Given the description of an element on the screen output the (x, y) to click on. 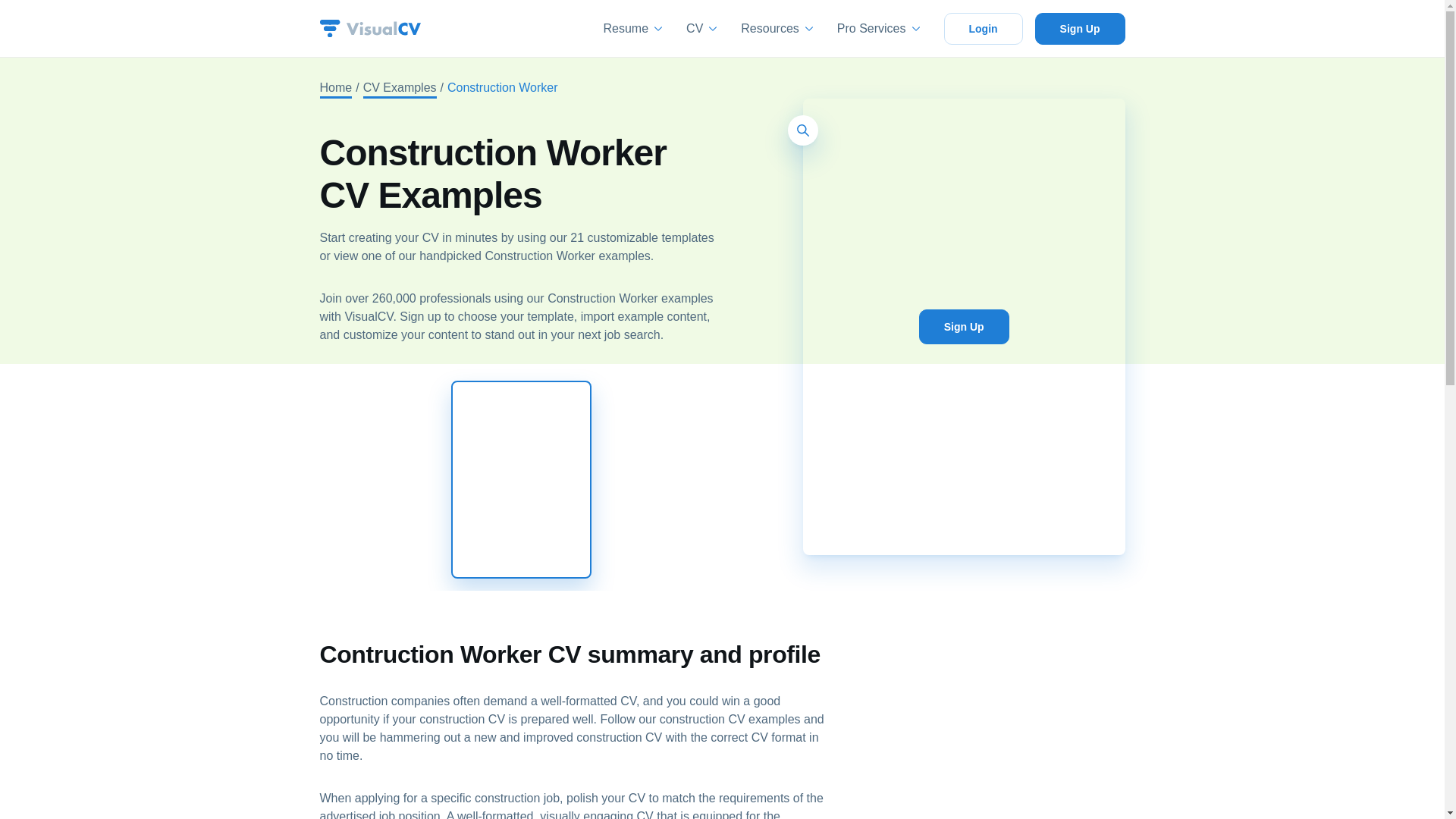
CV Examples (399, 89)
CV (700, 28)
Home (336, 89)
Resources (776, 28)
Resume (633, 28)
Sign Up (1080, 28)
Login (982, 28)
Pro Services (878, 28)
Sign Up (963, 326)
Construction Worker (488, 89)
